Given the description of an element on the screen output the (x, y) to click on. 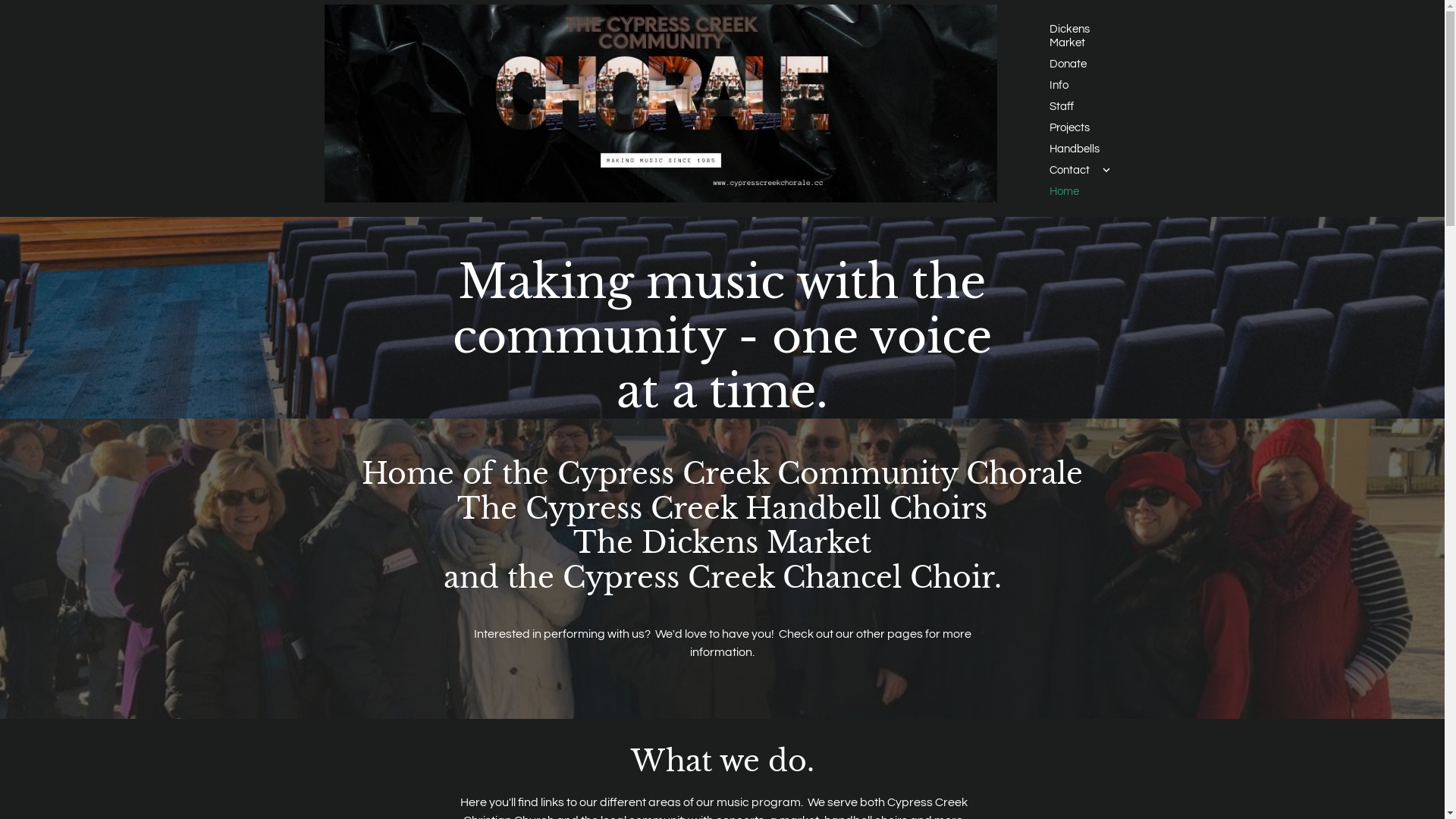
Home Element type: text (1080, 191)
Projects Element type: text (1080, 127)
Info Element type: text (1080, 85)
Contact Element type: text (1080, 170)
Dickens Market Element type: text (1080, 35)
Staff Element type: text (1080, 106)
Donate Element type: text (1080, 64)
Handbells Element type: text (1080, 149)
